Given the description of an element on the screen output the (x, y) to click on. 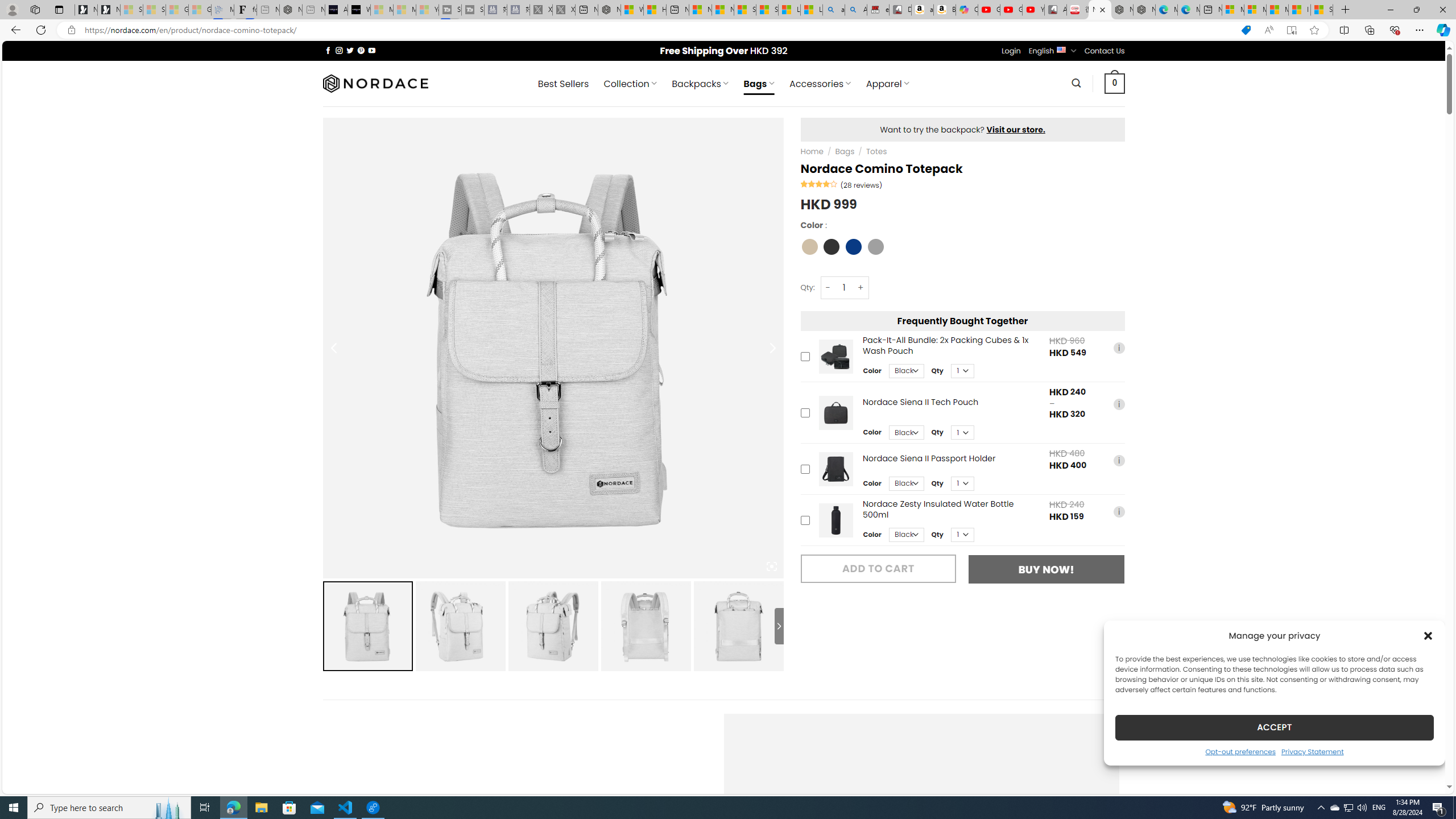
Nordace - #1 Japanese Best-Seller - Siena Smart Backpack (291, 9)
Wildlife - MSN (631, 9)
This site has coupons! Shopping in Microsoft Edge (1245, 29)
Follow on Instagram (338, 49)
Follow on Facebook (327, 49)
Opt-out preferences (1240, 750)
Home (812, 151)
